Given the description of an element on the screen output the (x, y) to click on. 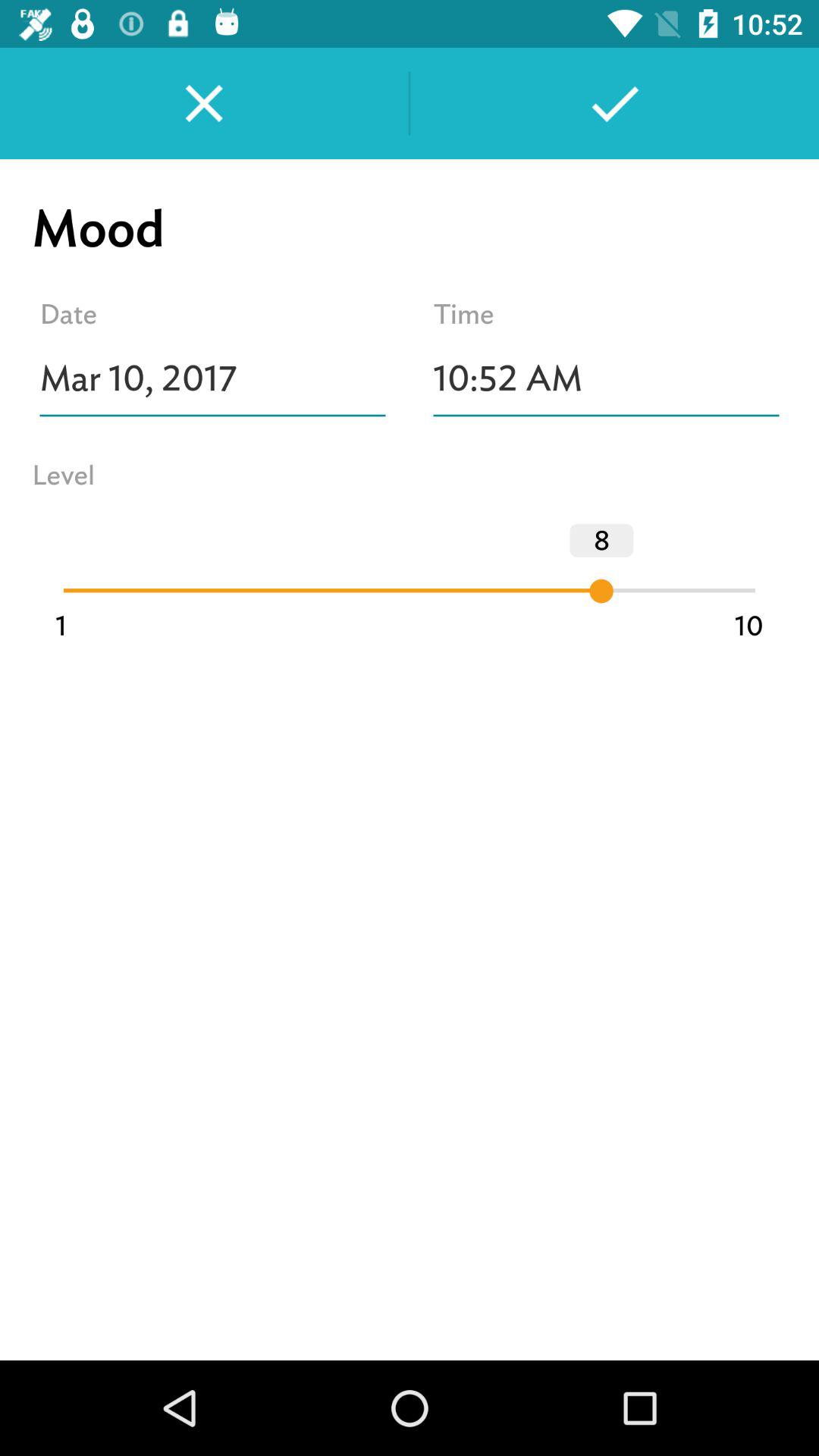
turn on 10:52 am (606, 378)
